Given the description of an element on the screen output the (x, y) to click on. 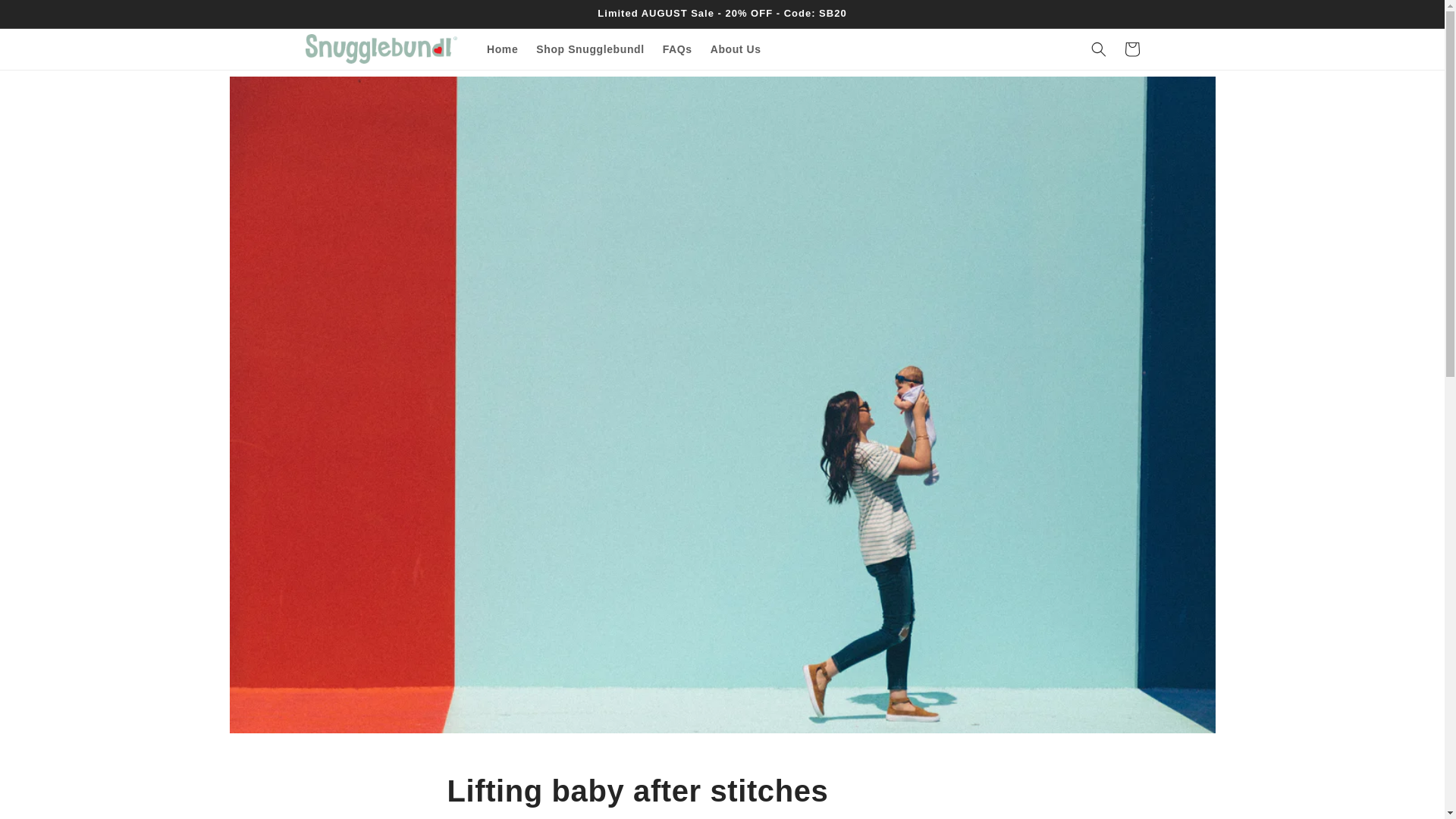
Home (502, 49)
About Us (735, 49)
Skip to content (45, 17)
FAQs (677, 49)
Cart (1131, 49)
Shop Snugglebundl (589, 49)
